Given the description of an element on the screen output the (x, y) to click on. 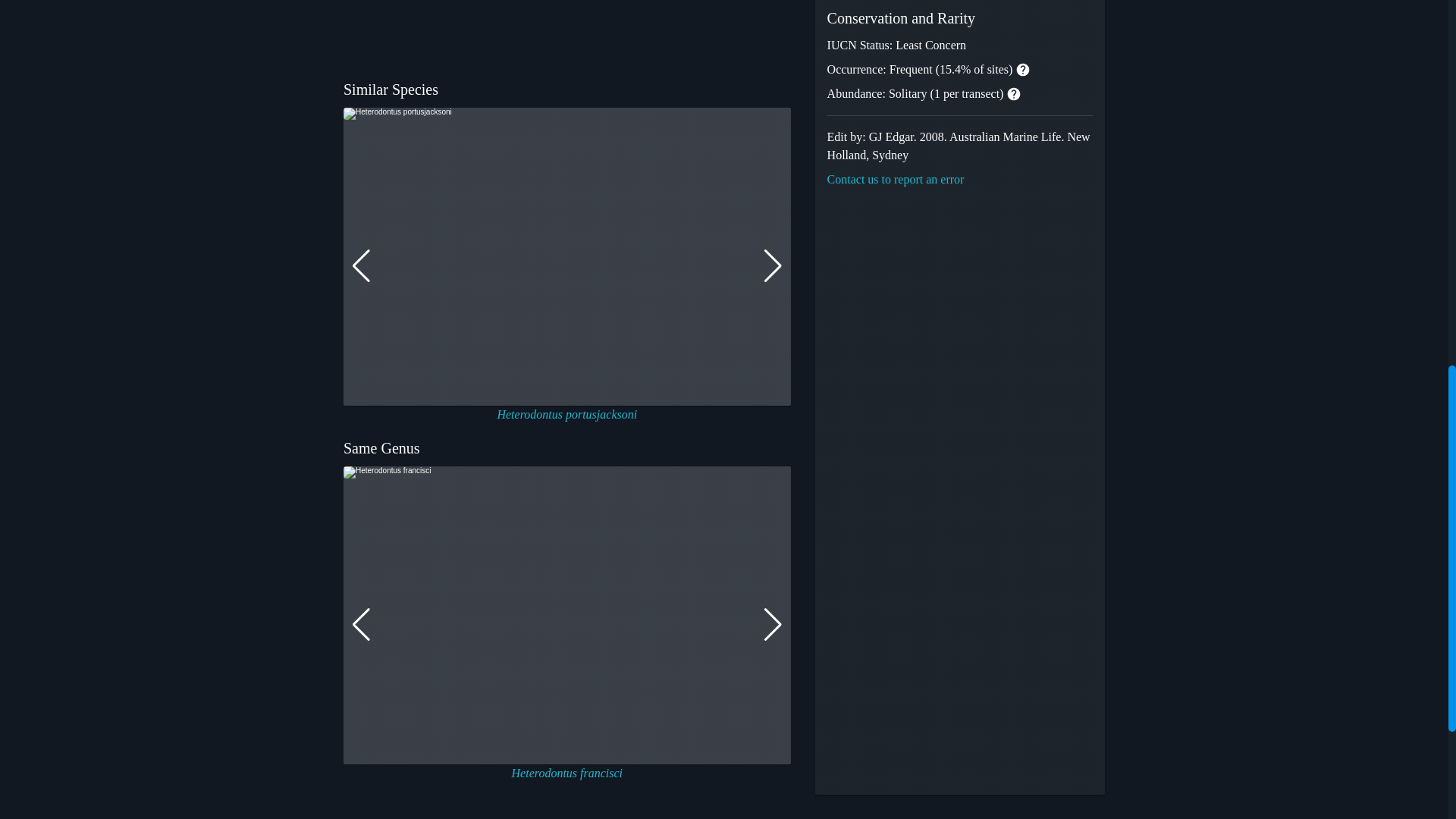
Contact us to report an error (895, 178)
Heterodontus francisci (567, 772)
Heterodontus portusjacksoni (566, 413)
